Given the description of an element on the screen output the (x, y) to click on. 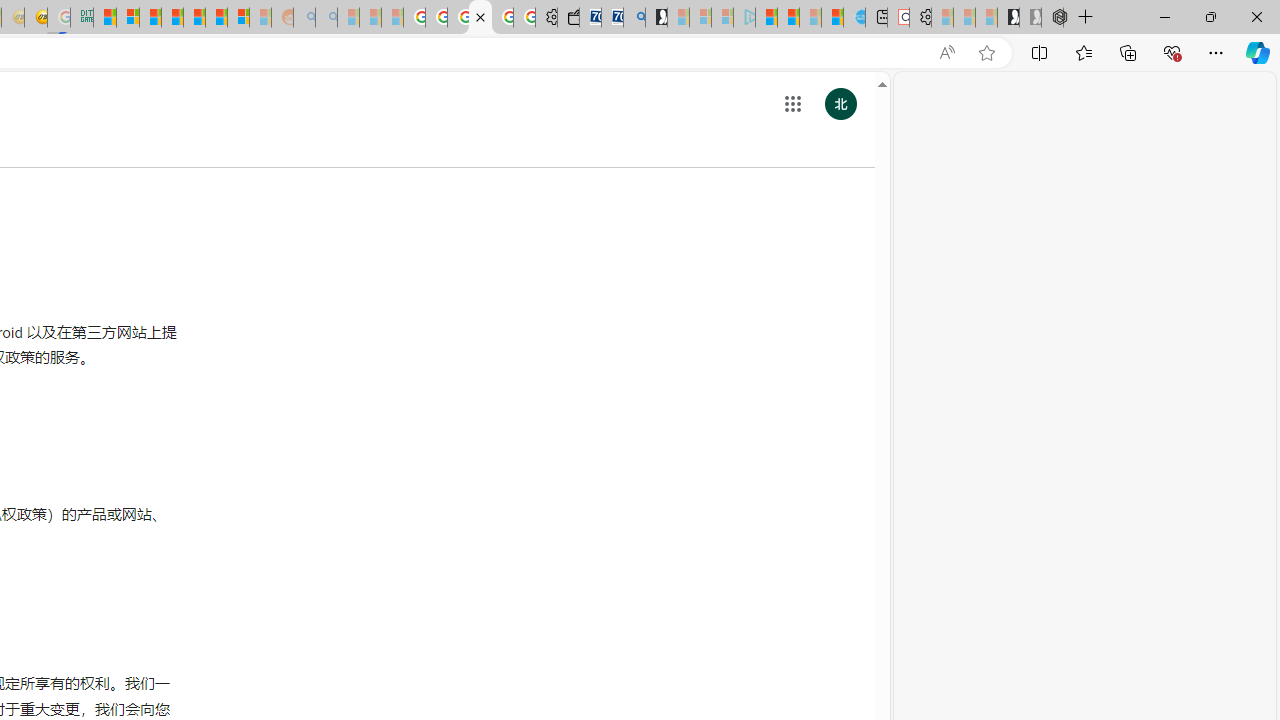
Wallet (568, 17)
